Given the description of an element on the screen output the (x, y) to click on. 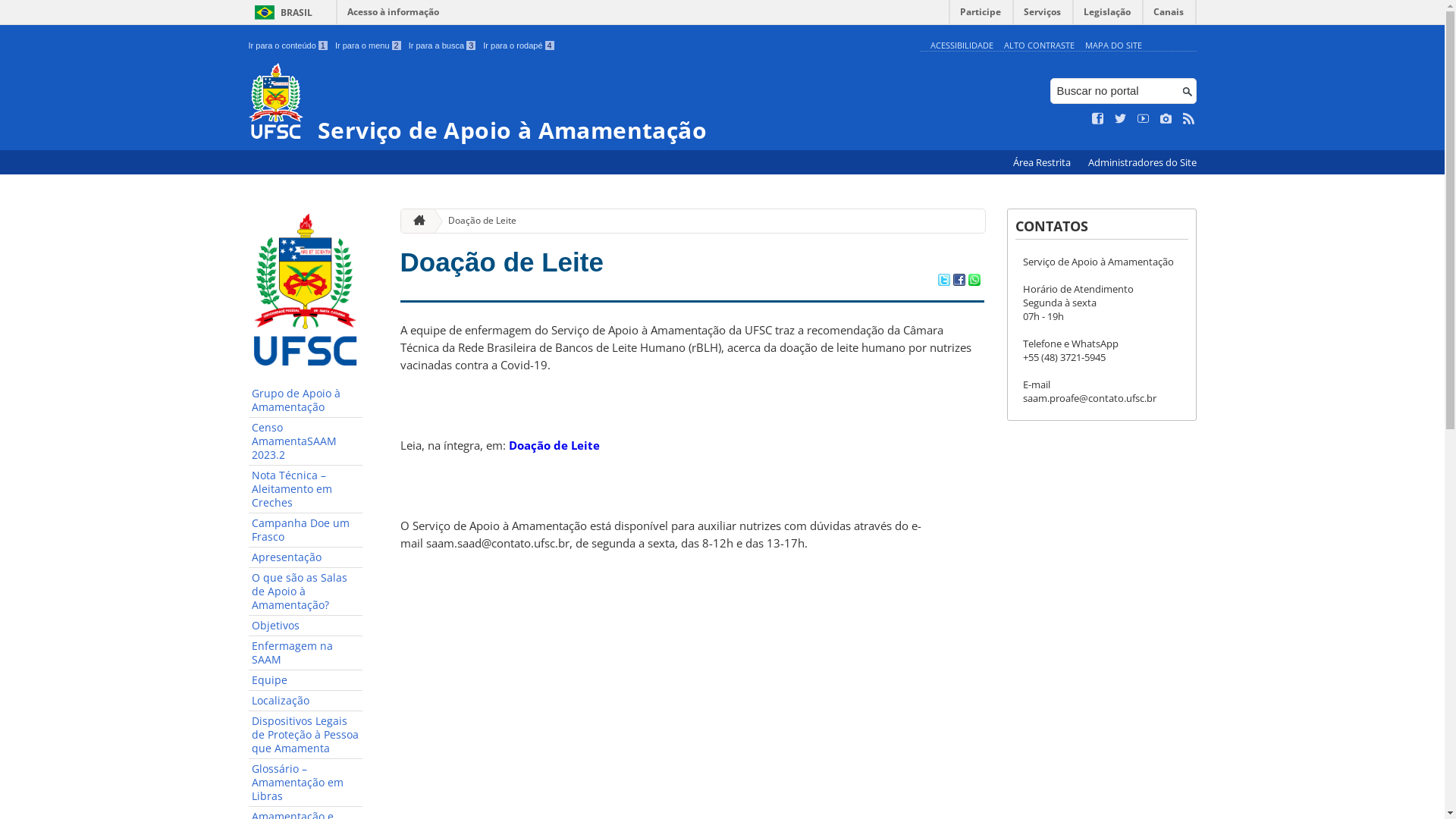
Campanha Doe um Frasco Element type: text (305, 530)
MAPA DO SITE Element type: text (1112, 44)
Compartilhar no Facebook Element type: hover (958, 280)
Administradores do Site Element type: text (1141, 162)
Compartilhar no Twitter Element type: hover (943, 280)
Objetivos Element type: text (305, 625)
Canais Element type: text (1169, 15)
Equipe Element type: text (305, 680)
Ir para o menu 2 Element type: text (368, 45)
Siga no Twitter Element type: hover (1120, 118)
Veja no Instagram Element type: hover (1166, 118)
Ir para a busca 3 Element type: text (442, 45)
ACESSIBILIDADE Element type: text (960, 44)
Censo AmamentaSAAM 2023.2 Element type: text (305, 441)
BRASIL Element type: text (280, 12)
Enfermagem na SAAM Element type: text (305, 653)
ALTO CONTRASTE Element type: text (1039, 44)
Participe Element type: text (980, 15)
Compartilhar no WhatsApp Element type: hover (973, 280)
Curta no Facebook Element type: hover (1098, 118)
